Given the description of an element on the screen output the (x, y) to click on. 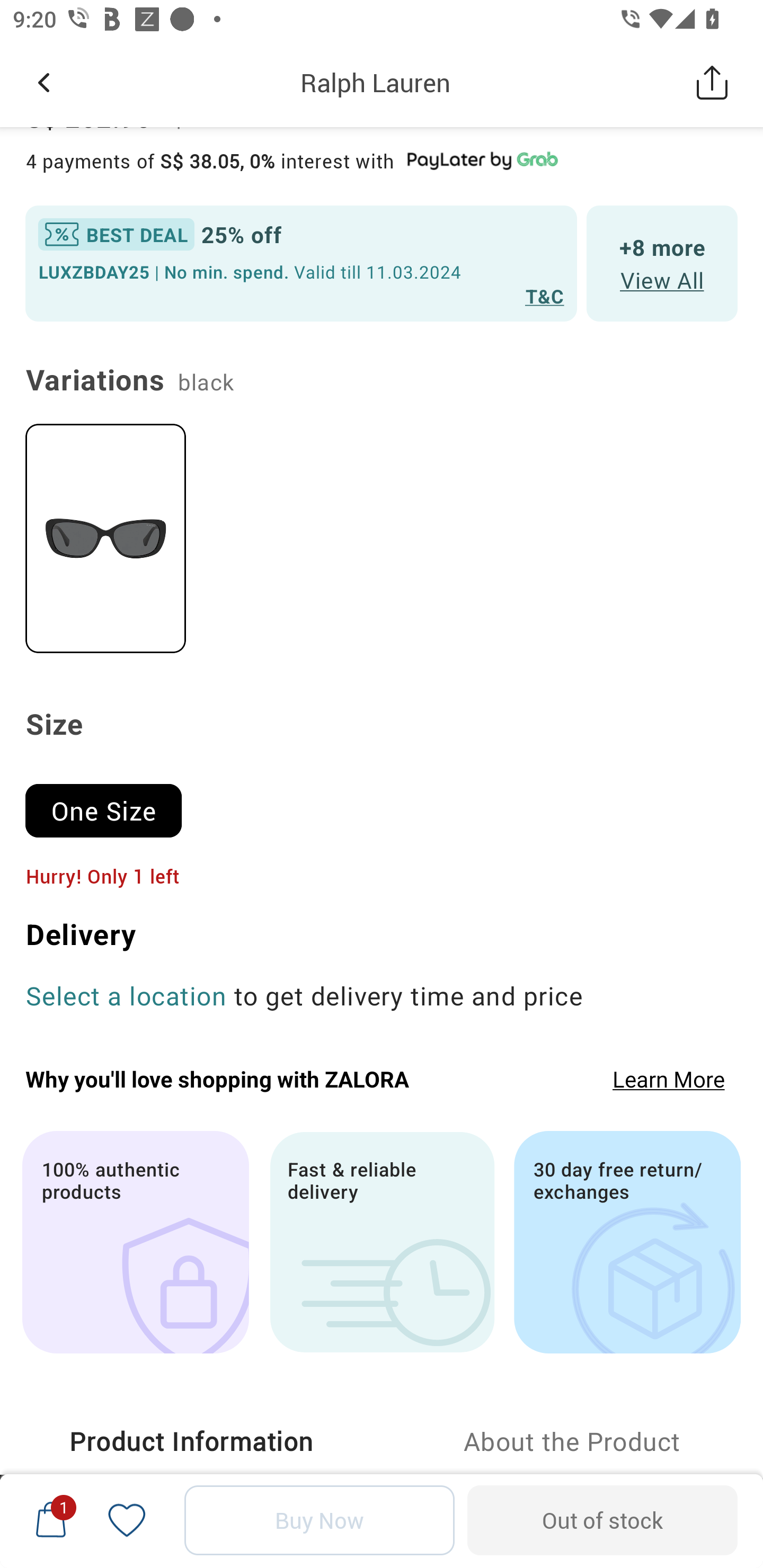
Ralph Lauren (375, 82)
Share this Product (711, 82)
+8 more
View All (661, 263)
T&C (544, 295)
One Size (111, 802)
Learn More (668, 1078)
100% authentic products (135, 1242)
Fast & reliable delivery (381, 1242)
30 day free return/exchanges (627, 1242)
About the Product (572, 1441)
Buy Now (319, 1519)
Out of stock (601, 1519)
1 (50, 1520)
